Given the description of an element on the screen output the (x, y) to click on. 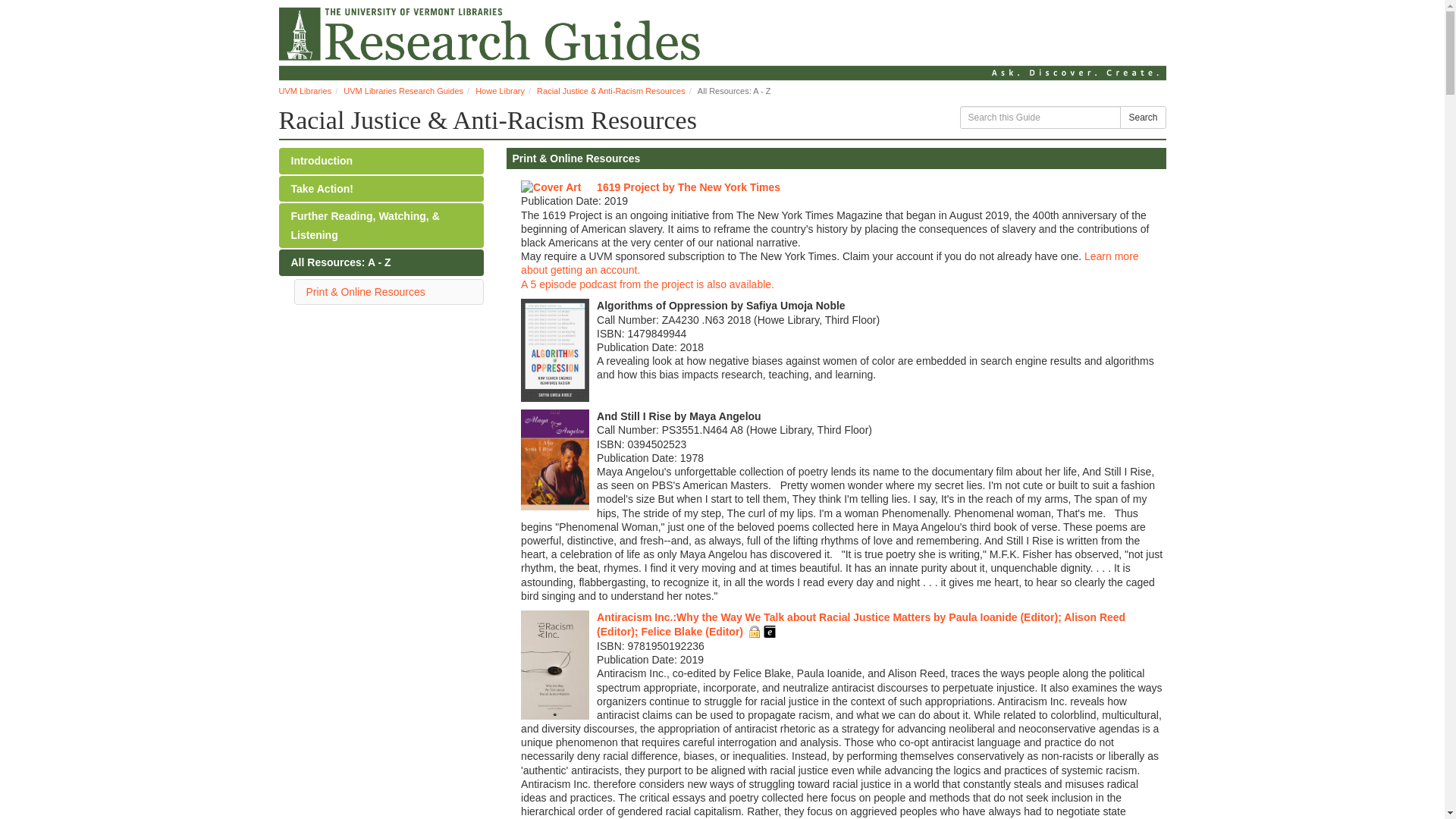
A 5 episode podcast from the project is also available. (647, 284)
All Resources: A - Z (381, 262)
Introduction (381, 161)
UVM Libraries Research Guides (403, 90)
1619 Project by The New York Times (688, 186)
Howe Library (500, 90)
Take Action! (381, 189)
Search (1142, 117)
UVM Libraries (305, 90)
Howe Library main website (722, 40)
Learn more about getting an account. (829, 263)
